Given the description of an element on the screen output the (x, y) to click on. 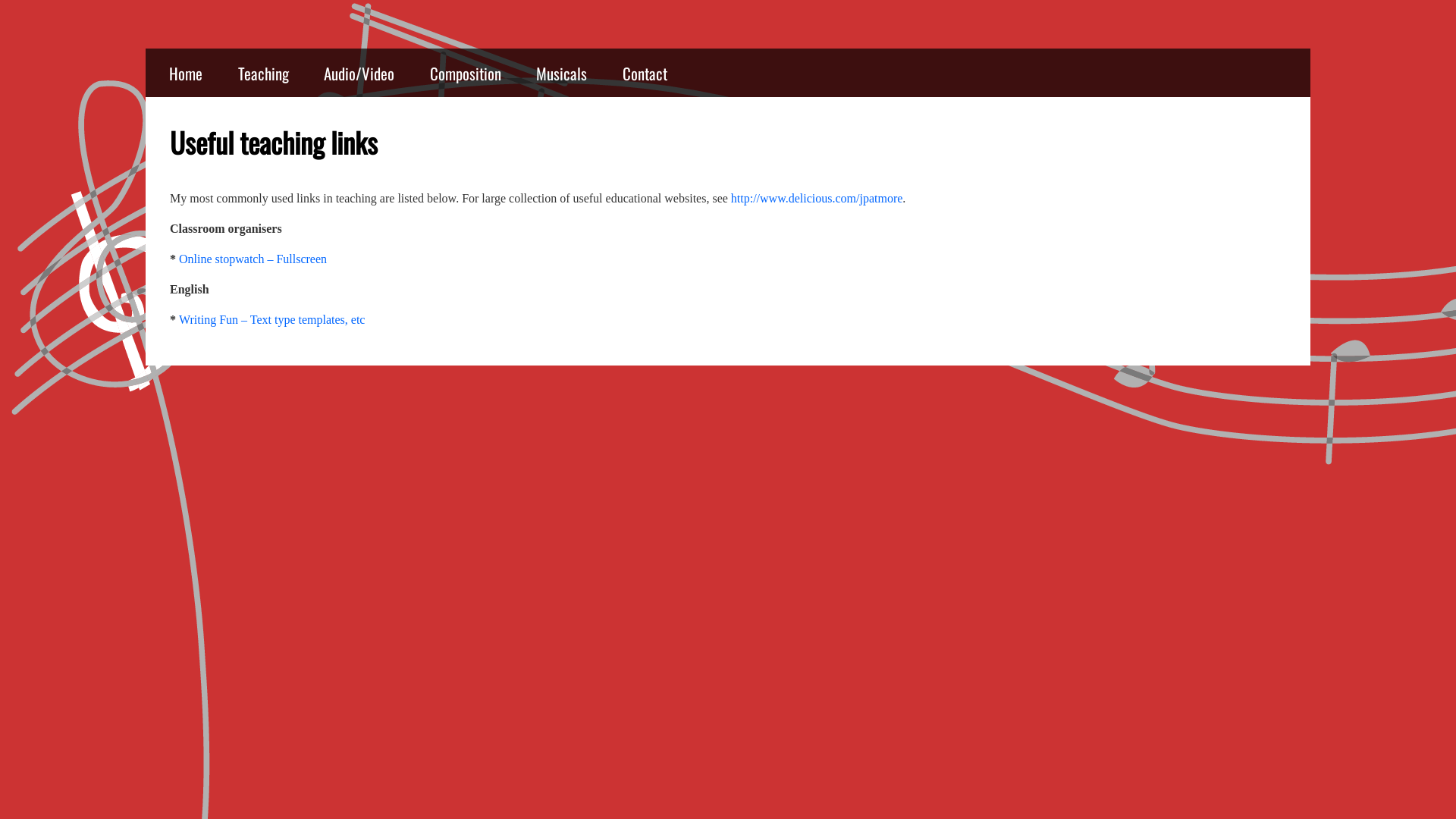
Musicals Element type: text (561, 72)
Home Element type: text (185, 72)
Audio/Video Element type: text (358, 72)
Composition Element type: text (465, 72)
Teaching Element type: text (263, 72)
Contact Element type: text (644, 72)
http://www.delicious.com/jpatmore Element type: text (816, 197)
Skip to content Element type: text (144, 47)
